Given the description of an element on the screen output the (x, y) to click on. 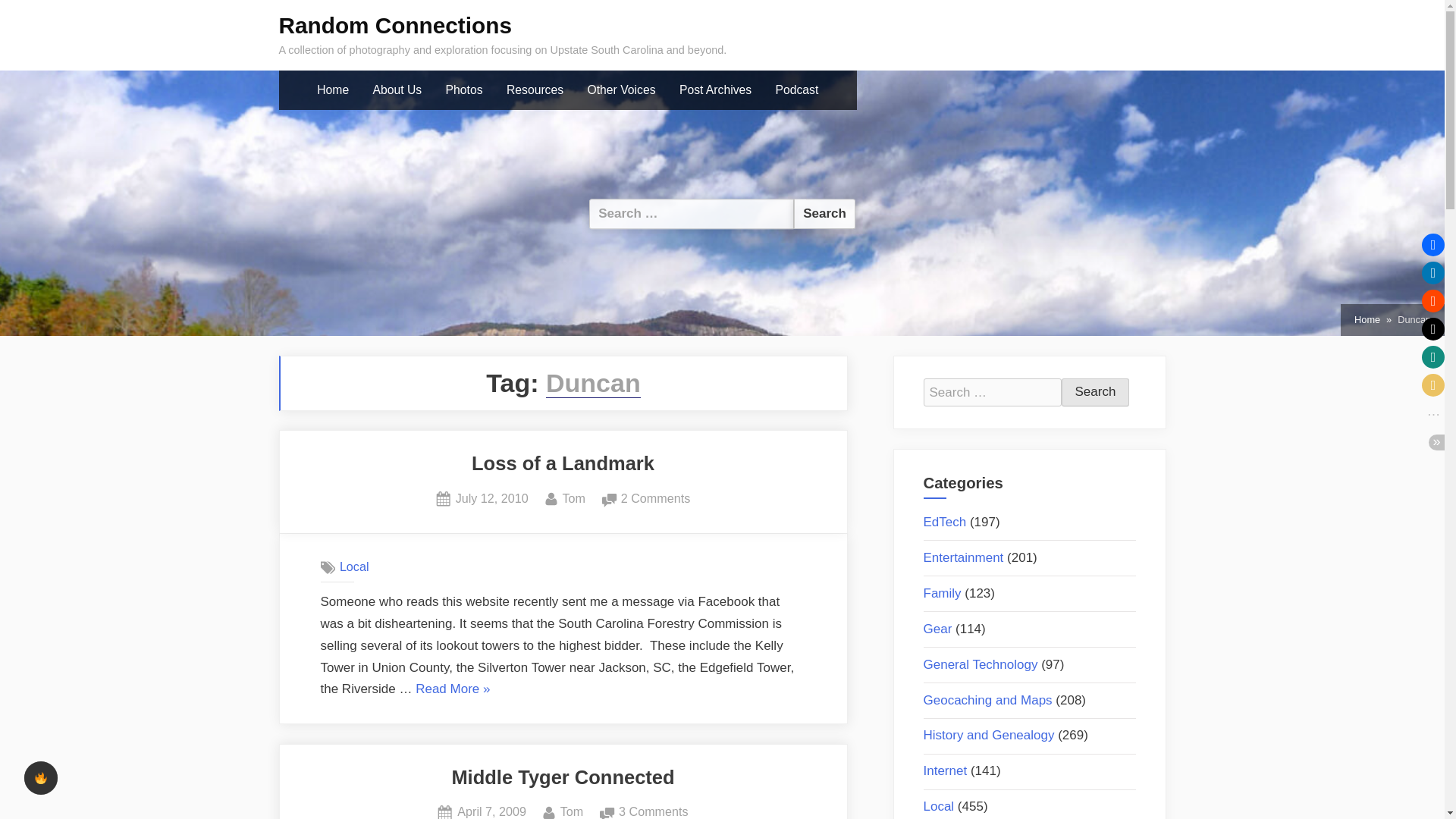
Search (824, 214)
Family (941, 593)
Entertainment (491, 498)
Random Connections (963, 557)
EdTech (571, 810)
Search (395, 25)
Resources (944, 522)
Home (1095, 392)
